Given the description of an element on the screen output the (x, y) to click on. 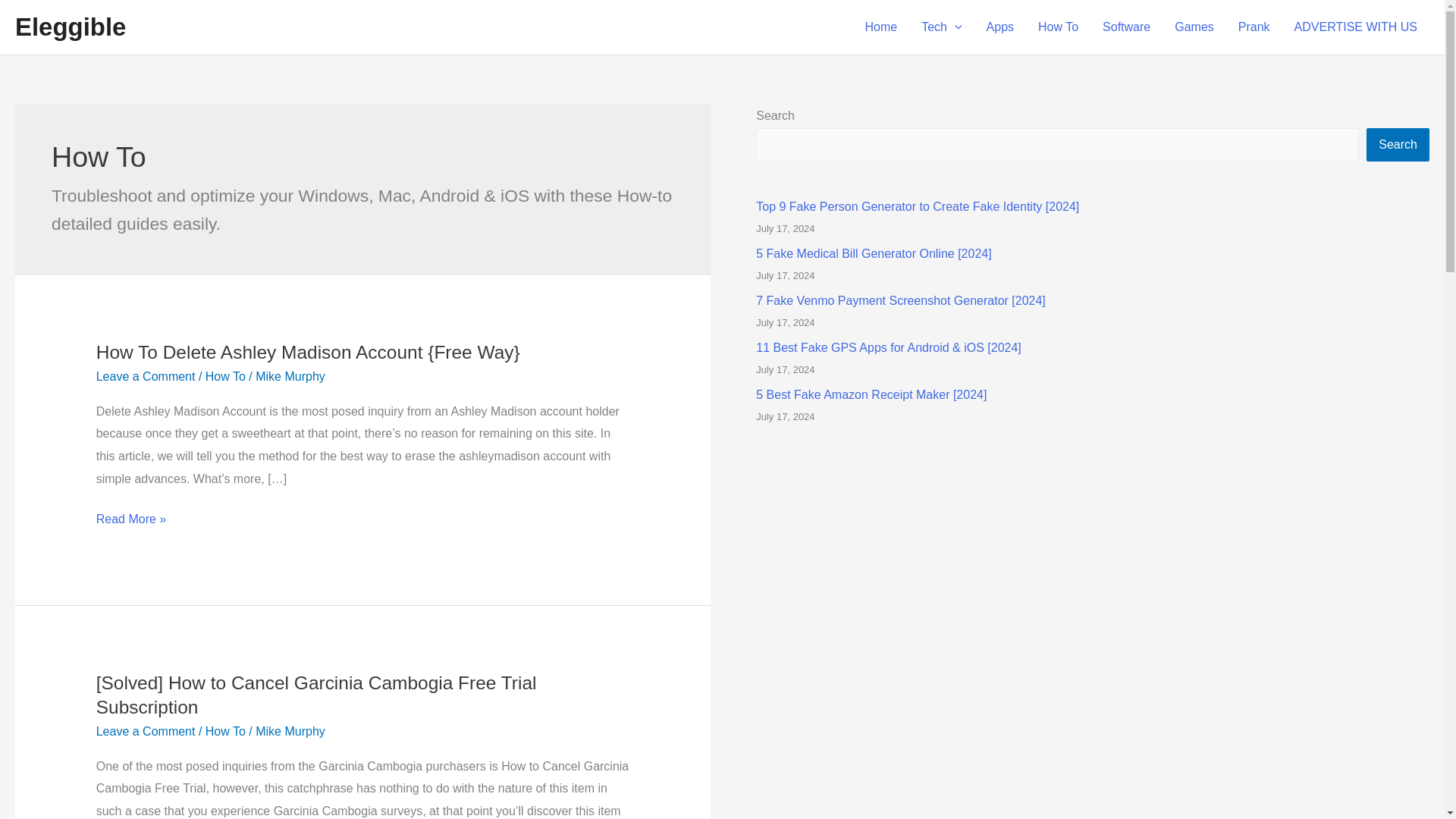
How To (1058, 27)
Leave a Comment (145, 730)
Tech (941, 27)
How To (225, 376)
Prank (1253, 27)
Eleggible (69, 26)
Games (1193, 27)
How To (225, 730)
ADVERTISE WITH US (1355, 27)
View all posts by Mike Murphy (290, 730)
View all posts by Mike Murphy (290, 376)
Leave a Comment (145, 376)
Software (1125, 27)
Mike Murphy (290, 376)
Apps (1000, 27)
